Given the description of an element on the screen output the (x, y) to click on. 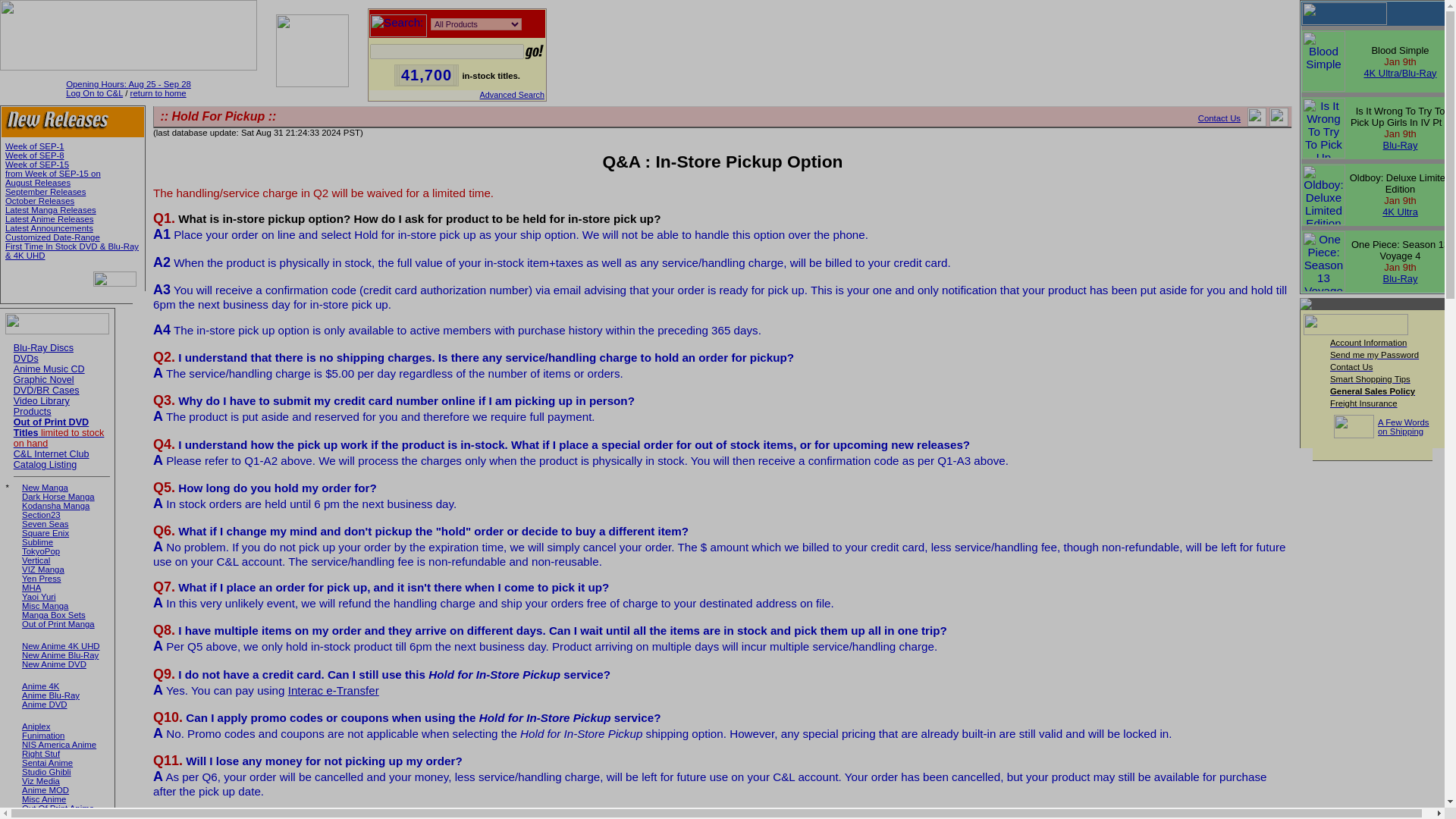
Video Library Products (41, 405)
Square Enix (44, 532)
Week of SEP-8 (34, 154)
TokyoPop (40, 551)
Sublime (36, 542)
Latest Announcements (49, 227)
41,700 (426, 74)
Anime Music CD (48, 368)
October Releases (39, 200)
Customized Date-Range (52, 236)
